Given the description of an element on the screen output the (x, y) to click on. 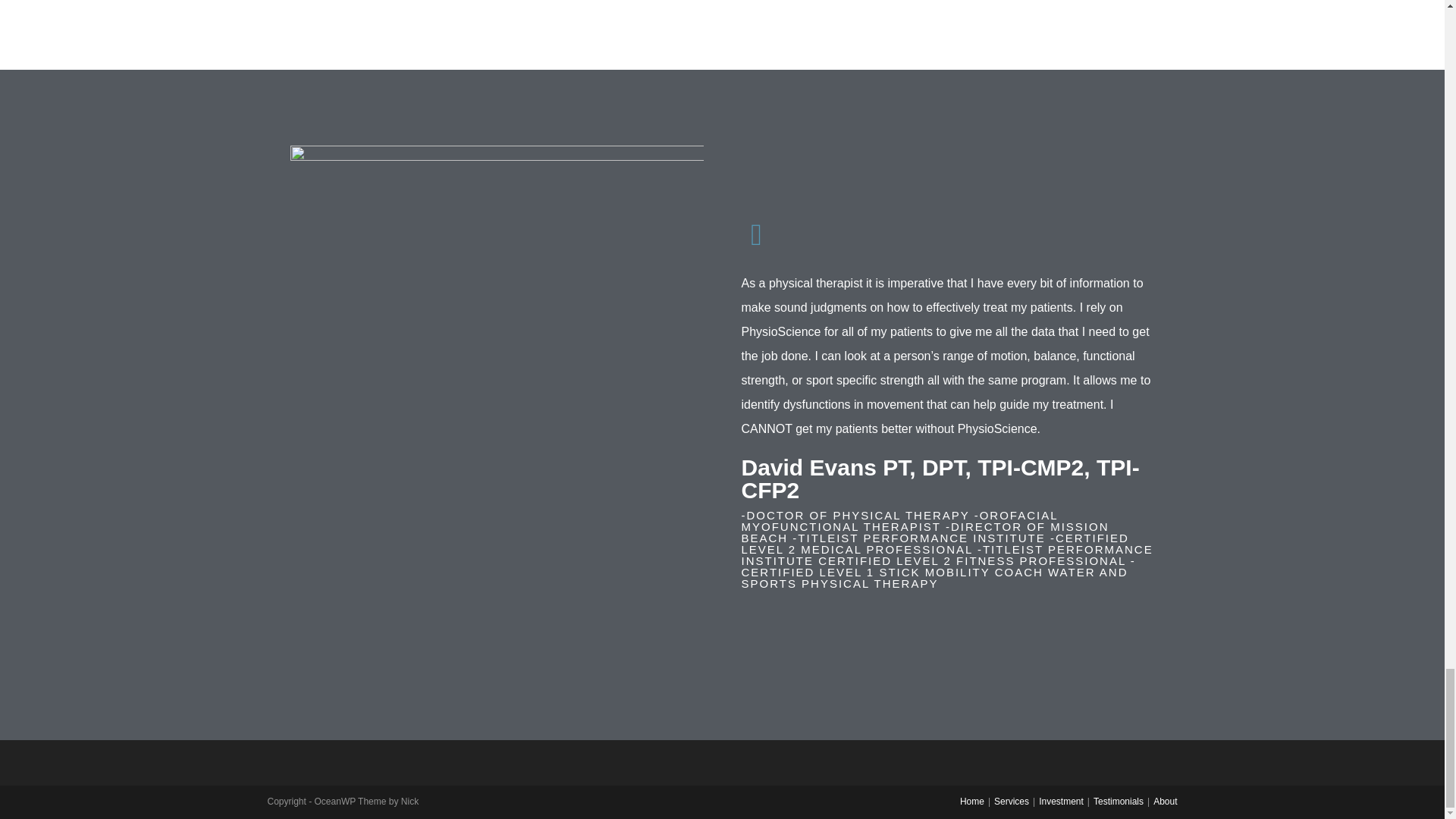
Investment (1061, 801)
About (1164, 801)
Services (1011, 801)
Testimonials (1117, 801)
Home (971, 801)
